Given the description of an element on the screen output the (x, y) to click on. 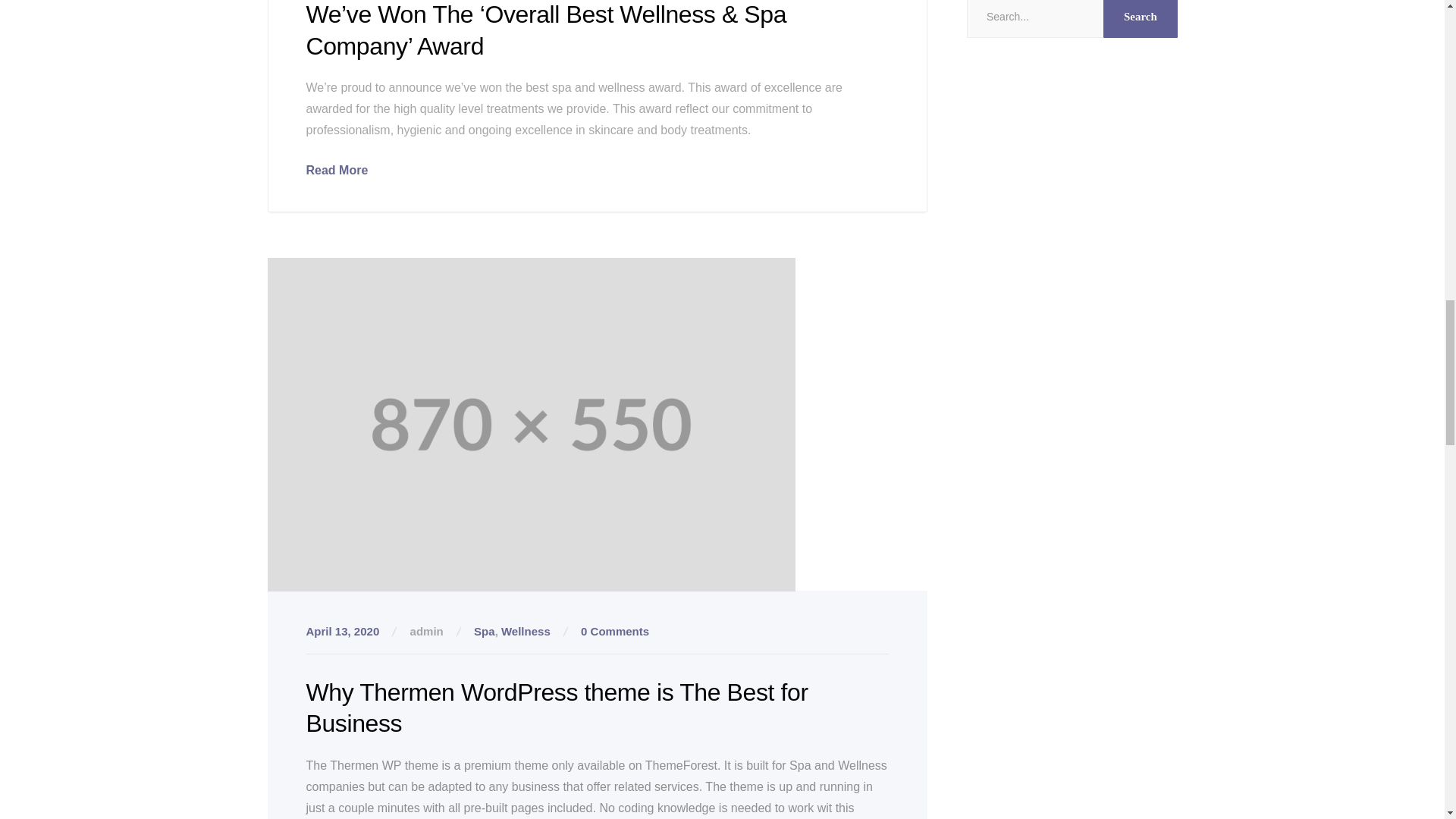
Search (1139, 18)
Search (1139, 18)
